Given the description of an element on the screen output the (x, y) to click on. 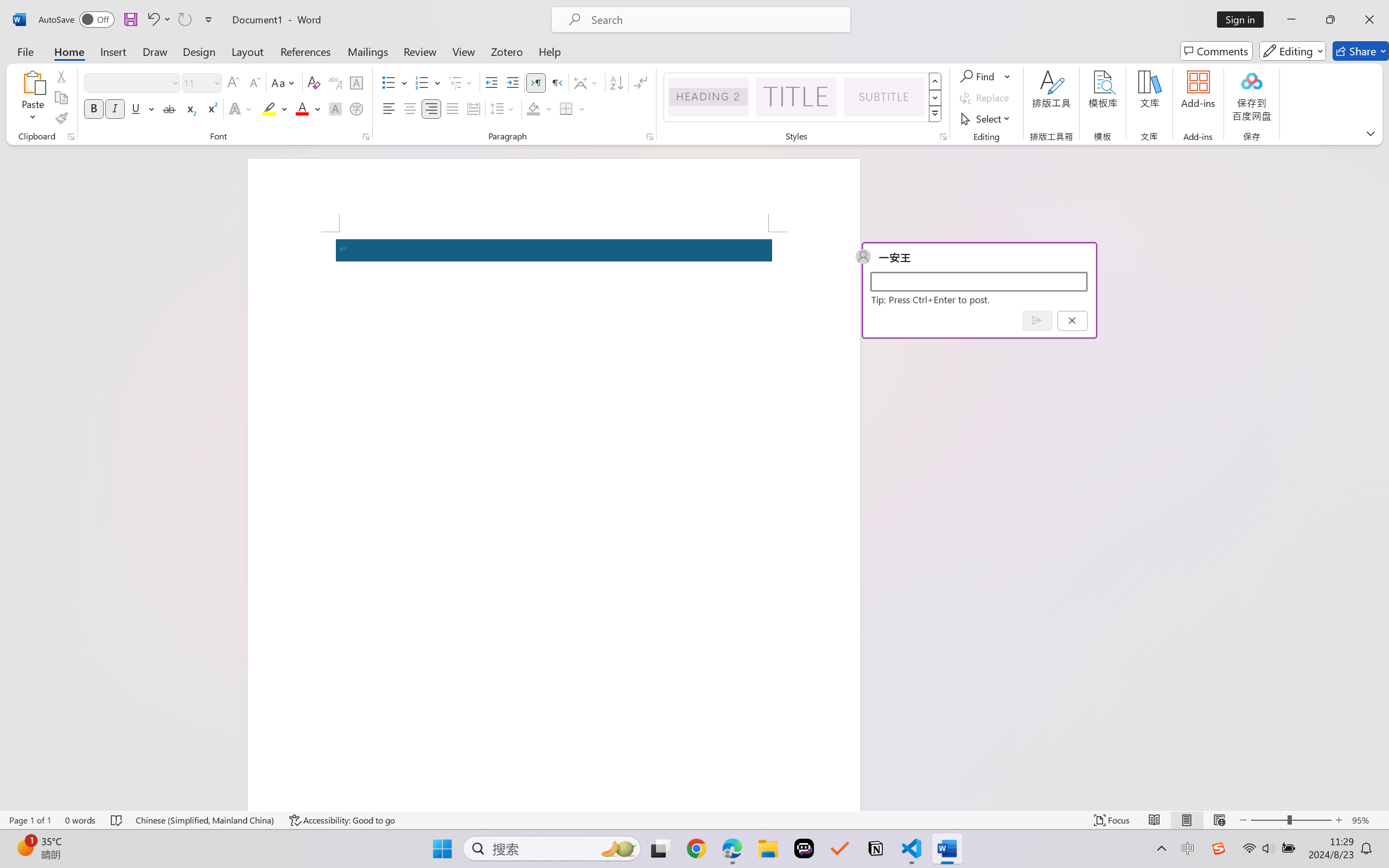
Start a conversation (978, 281)
Repeat TCSCTranslate (184, 19)
Sign in (1244, 19)
